Given the description of an element on the screen output the (x, y) to click on. 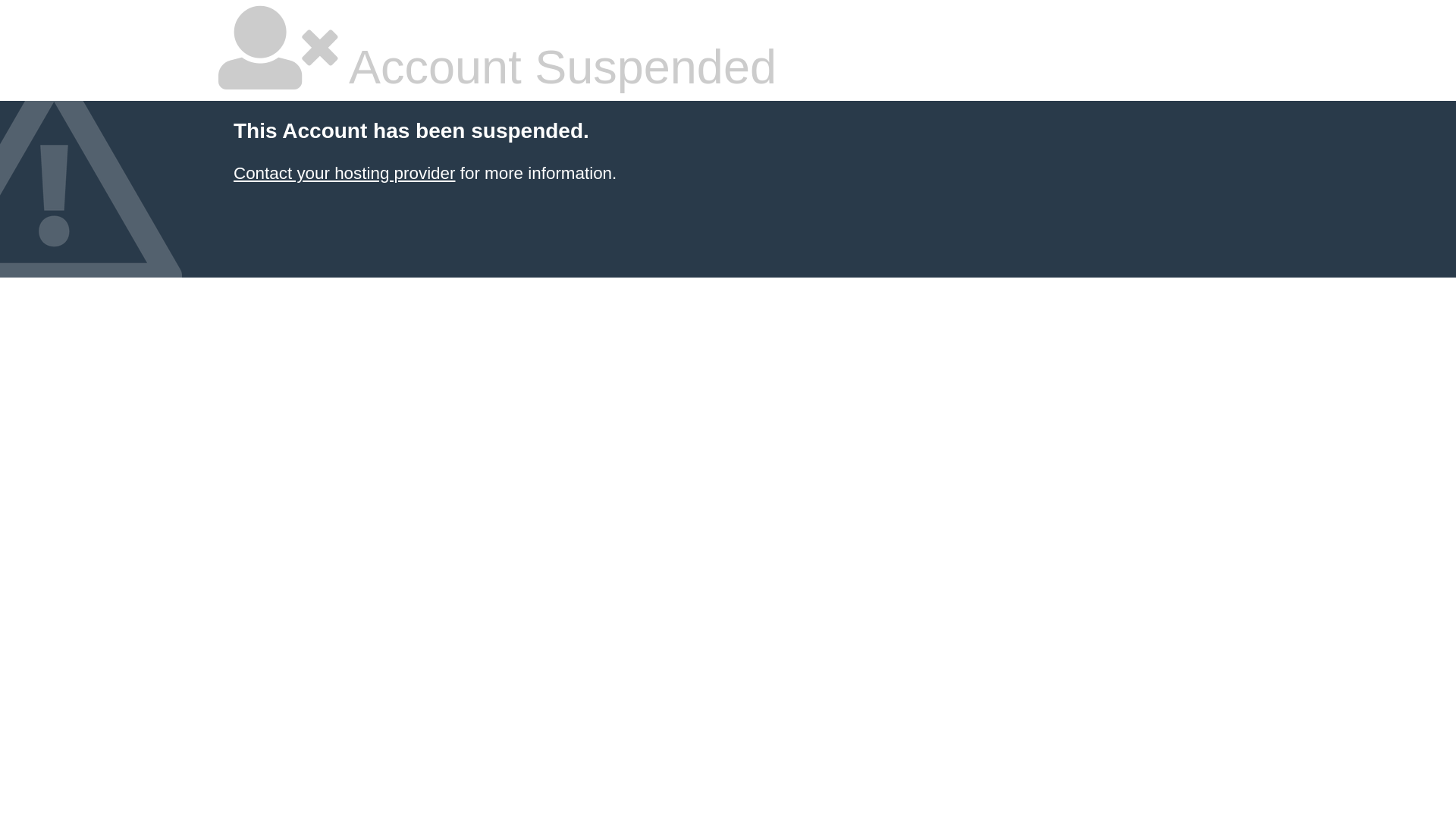
Contact your hosting provider Element type: text (344, 172)
